Given the description of an element on the screen output the (x, y) to click on. 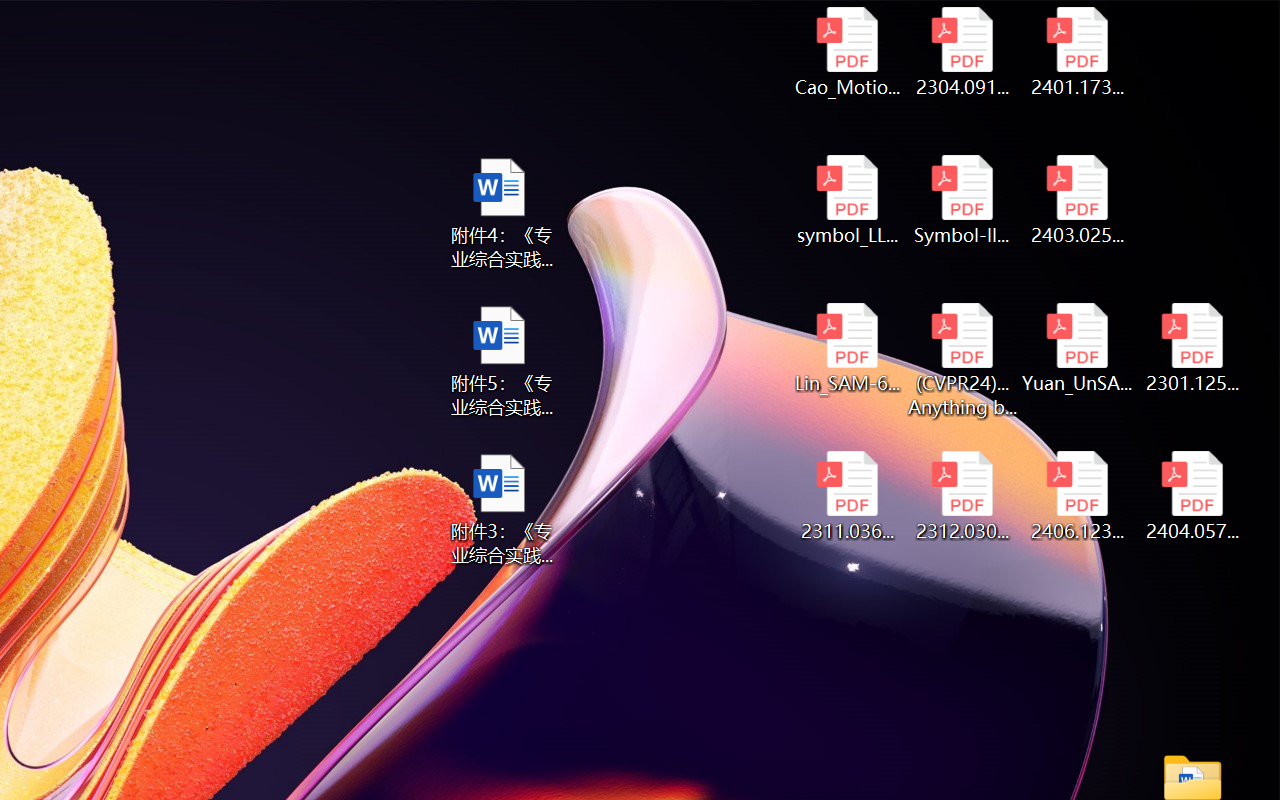
2404.05719v1.pdf (1192, 496)
